Given the description of an element on the screen output the (x, y) to click on. 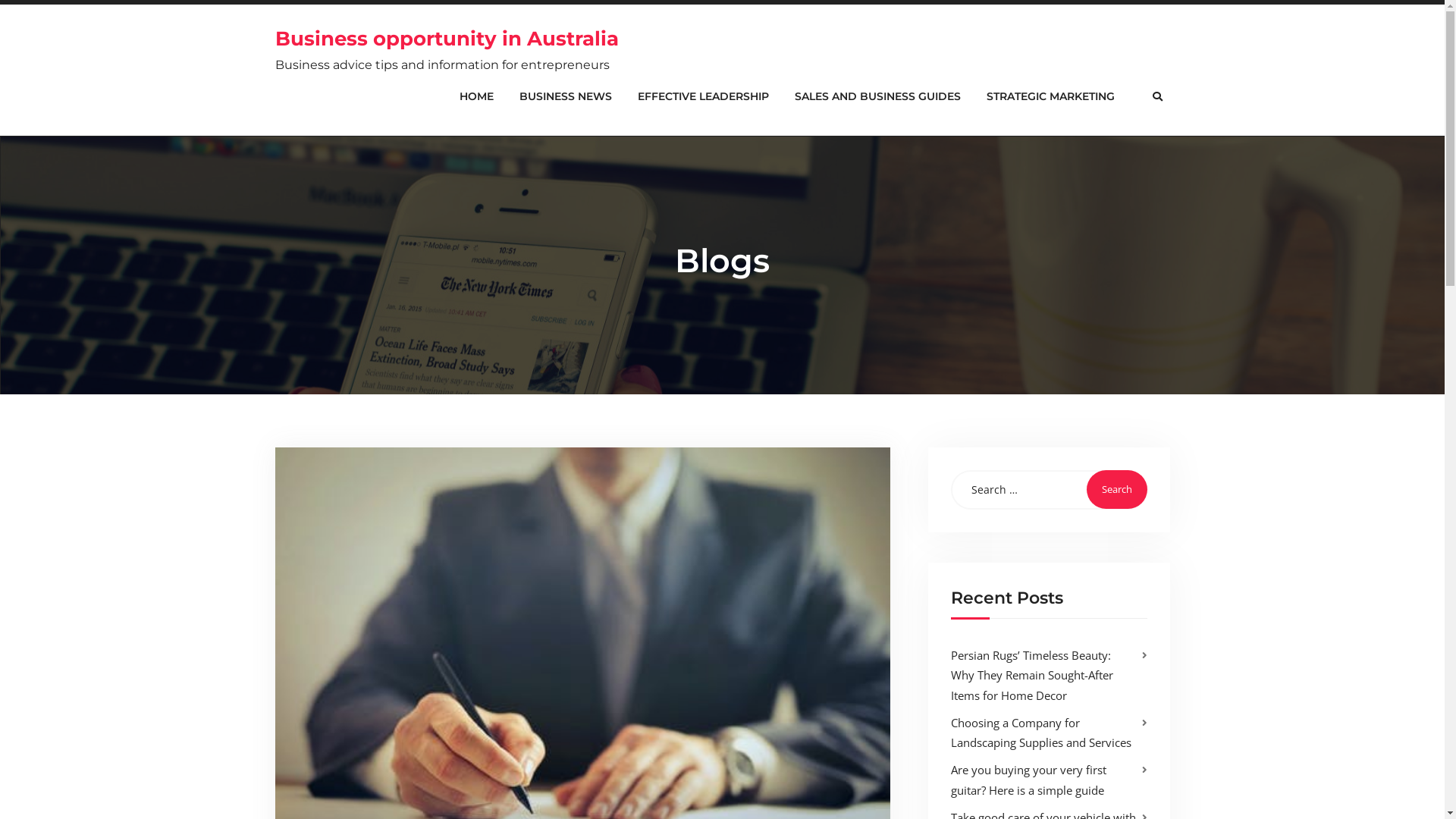
HOME Element type: text (475, 96)
Search Element type: text (1115, 489)
SALES AND BUSINESS GUIDES Element type: text (876, 96)
Business opportunity in Australia Element type: text (446, 38)
Skip to the content Element type: text (0, 0)
STRATEGIC MARKETING Element type: text (1050, 96)
Choosing a Company for Landscaping Supplies and Services Element type: text (1040, 732)
BUSINESS NEWS Element type: text (565, 96)
EFFECTIVE LEADERSHIP Element type: text (702, 96)
